Given the description of an element on the screen output the (x, y) to click on. 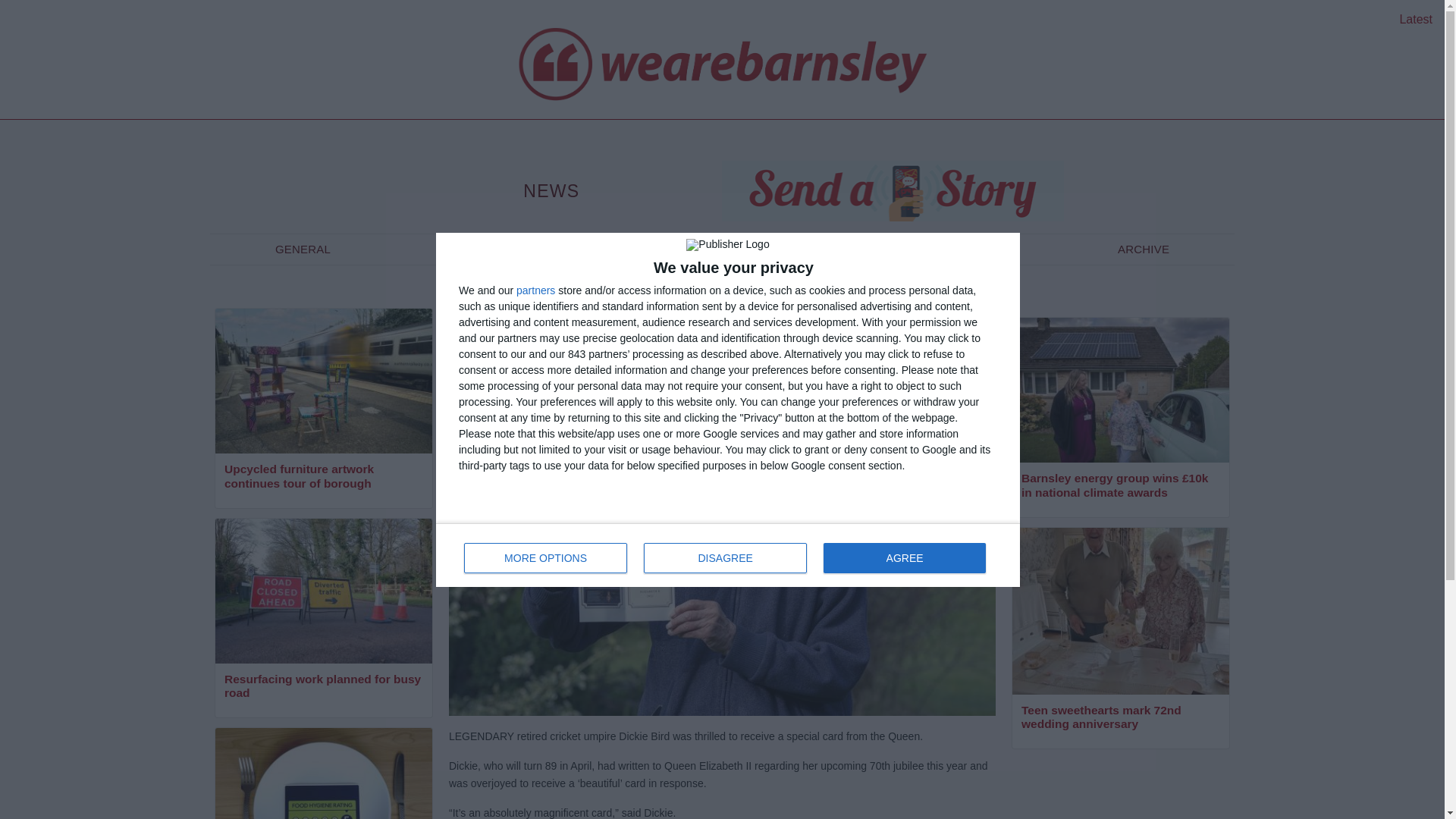
ARCHIVE (1143, 249)
GENERAL (302, 249)
partners (535, 290)
AGREE (727, 555)
Latest (904, 557)
COMMUNITY (1415, 19)
HELPING HAND (496, 249)
Resurfacing work planned for busy road (705, 249)
DISAGREE (323, 686)
